Given the description of an element on the screen output the (x, y) to click on. 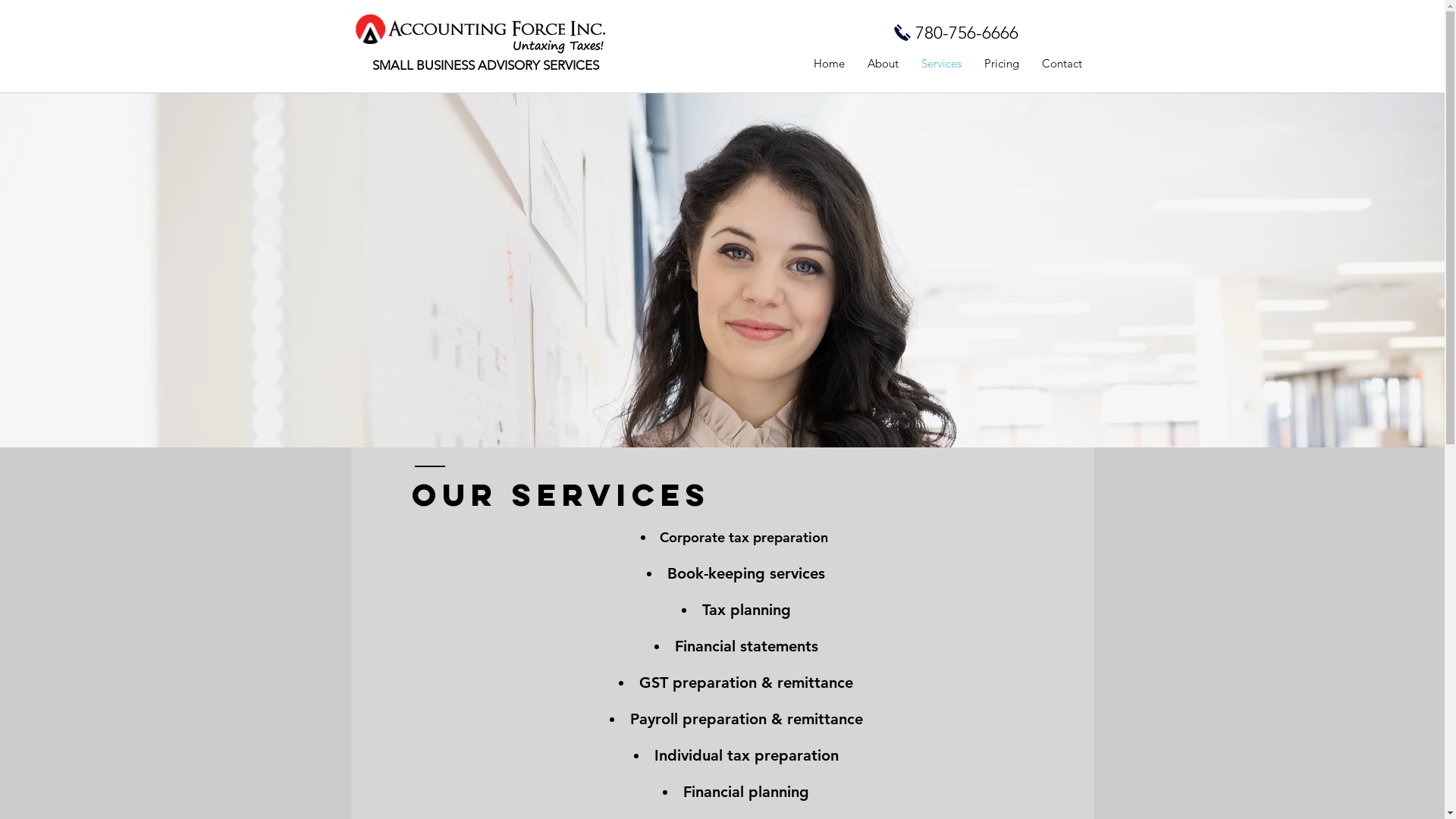
Services Element type: text (941, 63)
About Element type: text (882, 63)
Contact Element type: text (1060, 63)
Home Element type: text (829, 63)
Pricing Element type: text (1000, 63)
